Given the description of an element on the screen output the (x, y) to click on. 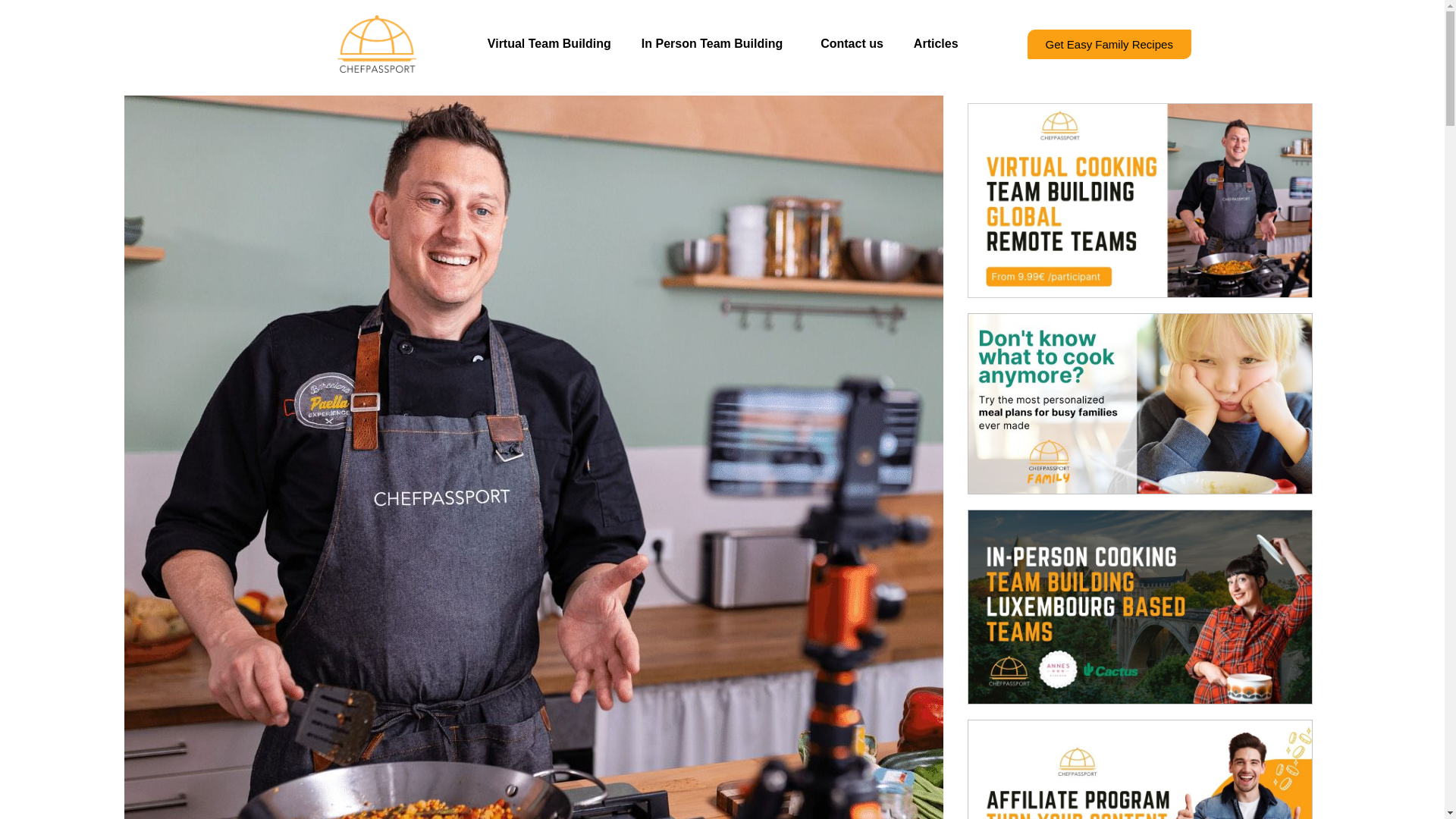
Virtual Team Building (548, 43)
Contact us (851, 43)
Get Easy Family Recipes (1108, 43)
In Person Team Building (715, 43)
Articles (939, 43)
